Given the description of an element on the screen output the (x, y) to click on. 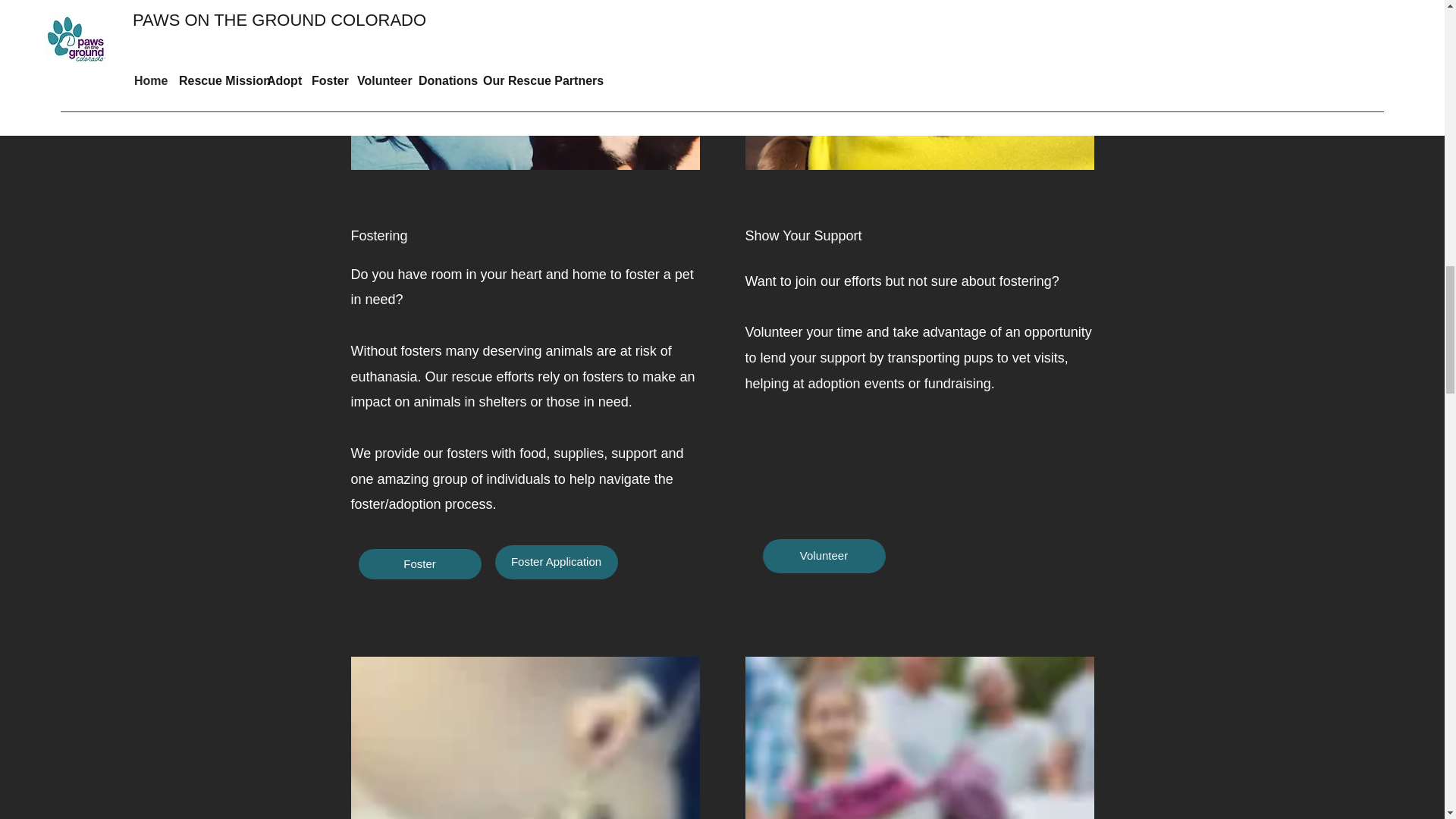
Foster (419, 563)
Foster Application (556, 562)
Volunteer (823, 555)
